Given the description of an element on the screen output the (x, y) to click on. 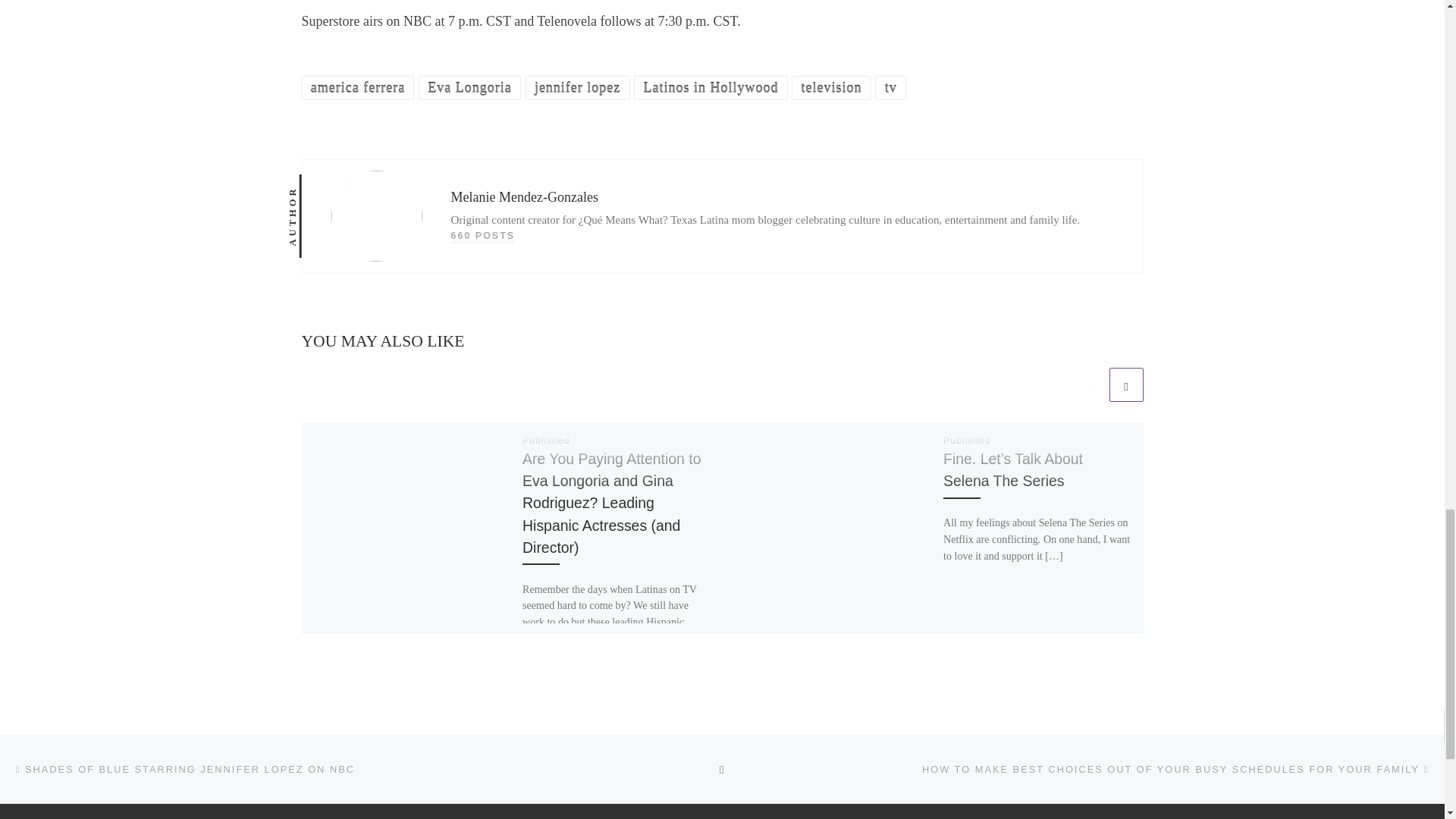
Previous related articles (1088, 384)
View all the posts of the author (482, 236)
View all posts in Latinos in Hollywood (710, 87)
View all posts in america ferrera (357, 87)
View all posts in television (831, 87)
View all posts in Eva Longoria (470, 87)
View all posts in jennifer lopez (577, 87)
View all posts in tv (890, 87)
